Given the description of an element on the screen output the (x, y) to click on. 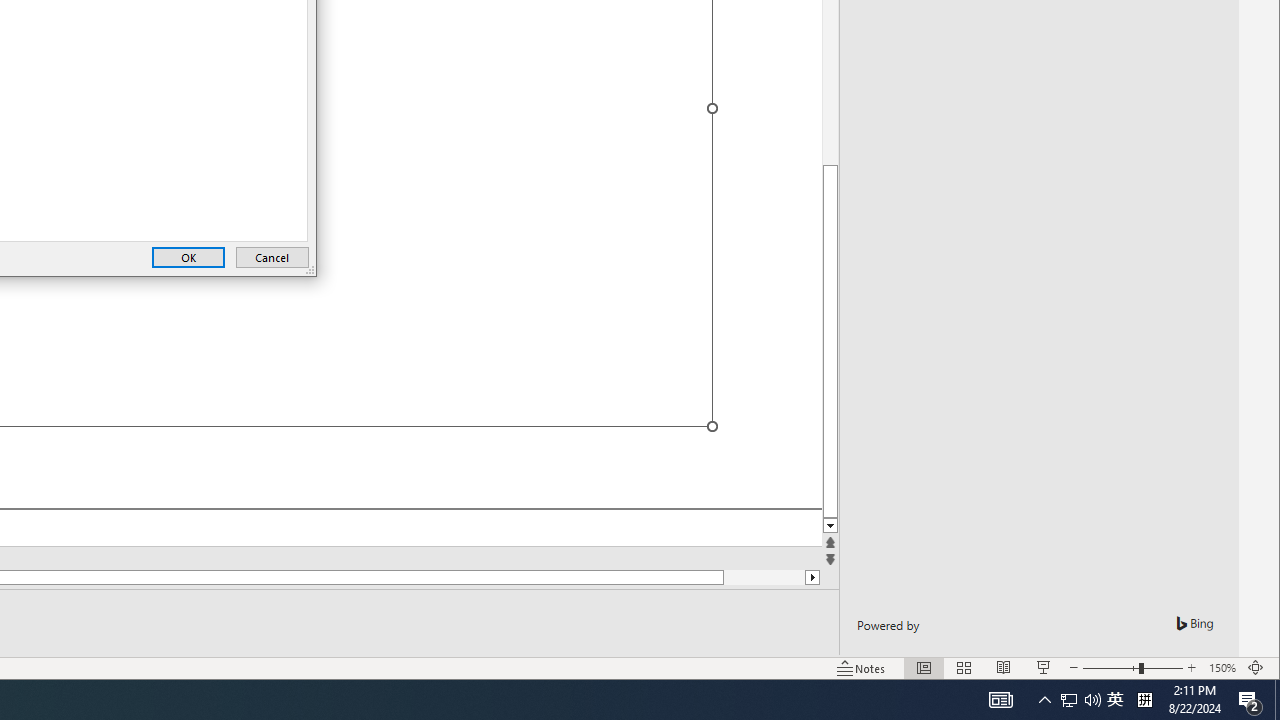
Action Center, 2 new notifications (1250, 699)
AutomationID: 4105 (1000, 699)
Zoom 150% (1222, 668)
Cancel (272, 257)
OK (188, 257)
Tray Input Indicator - Chinese (Simplified, China) (1144, 699)
Page down (764, 577)
Q2790: 100% (1092, 699)
User Promoted Notification Area (1080, 699)
Notification Chevron (1044, 699)
